Given the description of an element on the screen output the (x, y) to click on. 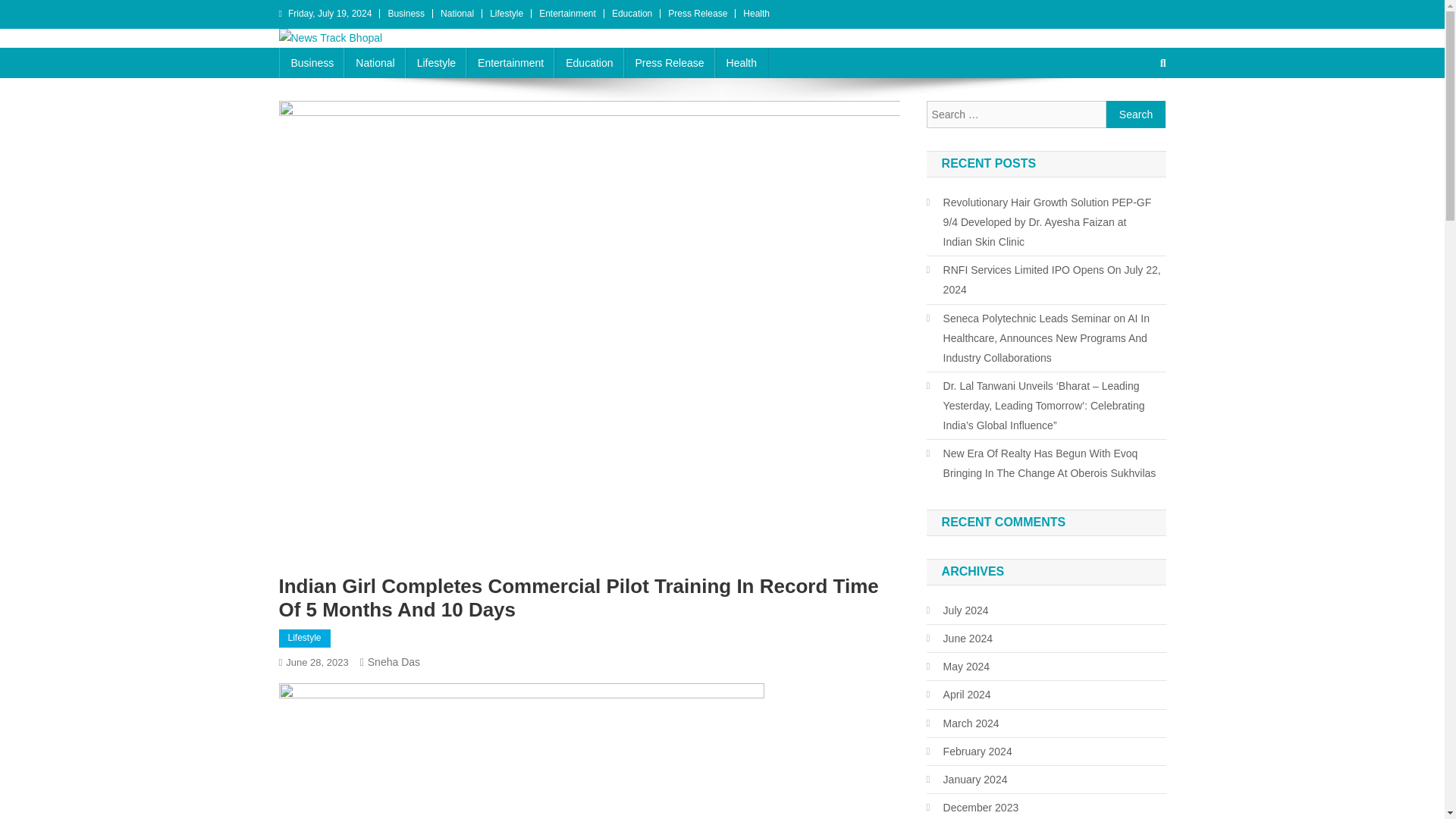
Sneha Das (394, 662)
Search (1136, 113)
Business (406, 13)
News Track Bhopal (389, 62)
Education (631, 13)
Press Release (697, 13)
National (374, 62)
Press Release (669, 62)
Health (756, 13)
June 28, 2023 (316, 662)
Lifestyle (304, 638)
Education (588, 62)
National (457, 13)
Business (312, 62)
Lifestyle (505, 13)
